Given the description of an element on the screen output the (x, y) to click on. 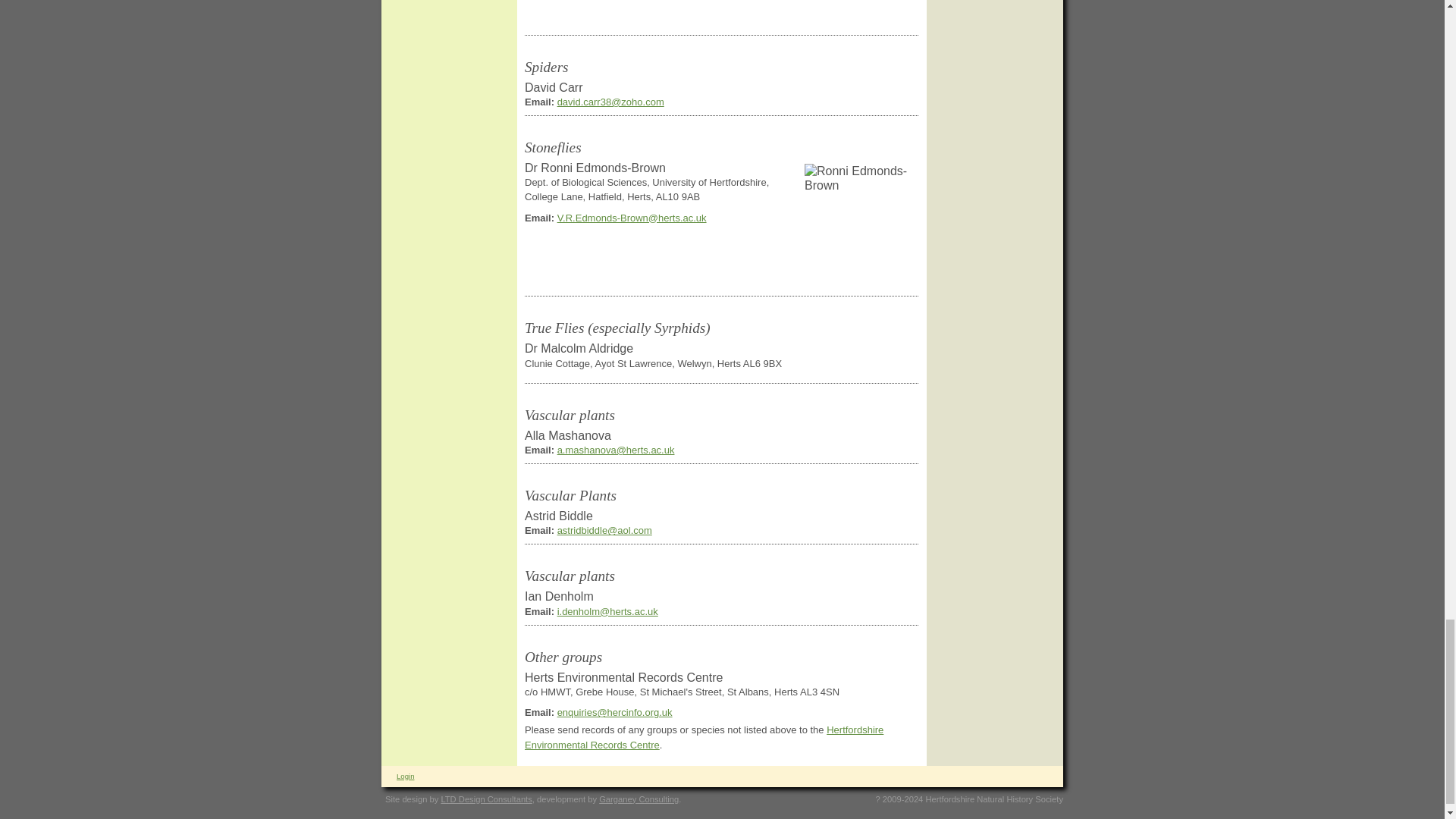
Hertfordshire Environmental Records Centre (703, 736)
